Given the description of an element on the screen output the (x, y) to click on. 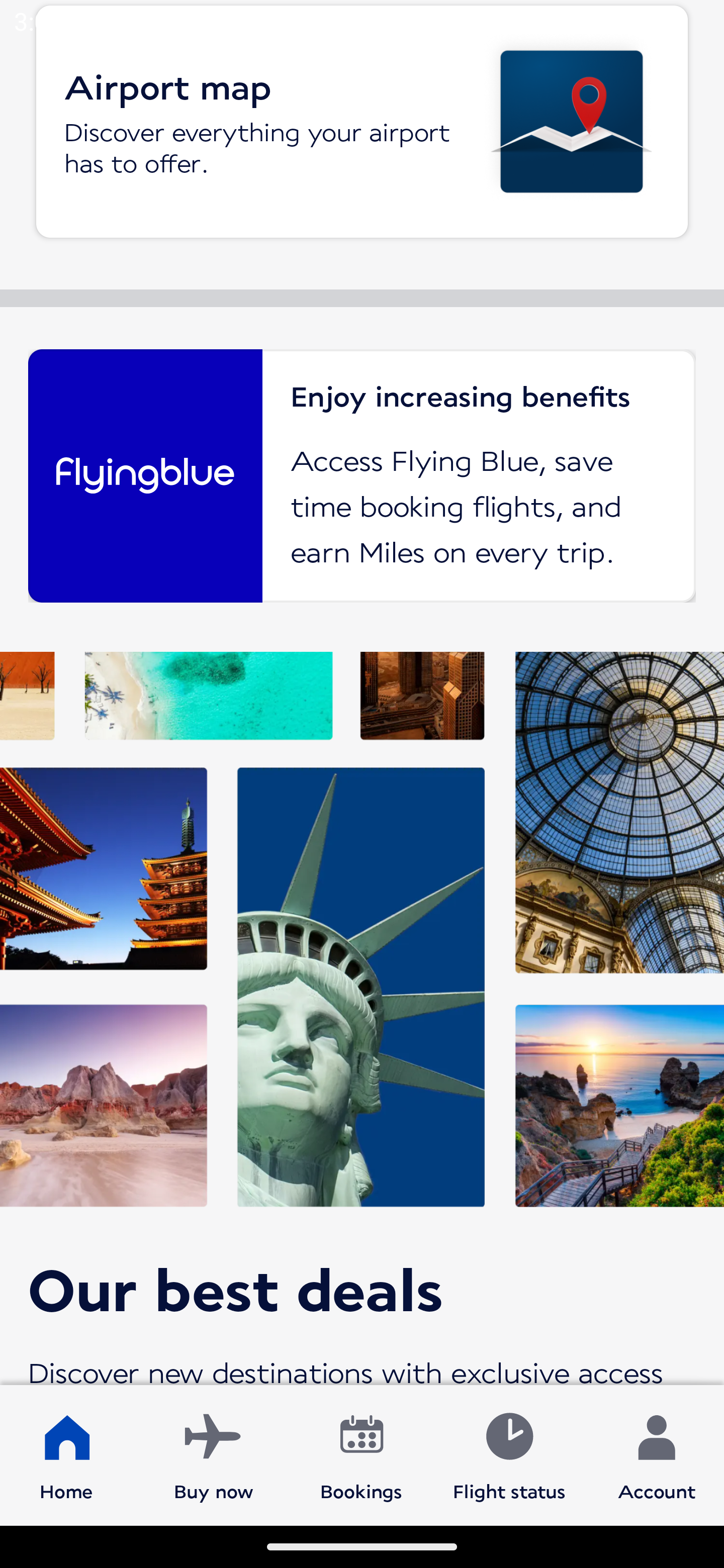
Buy now (213, 1454)
Bookings (361, 1454)
Flight status (509, 1454)
Account (657, 1454)
